Given the description of an element on the screen output the (x, y) to click on. 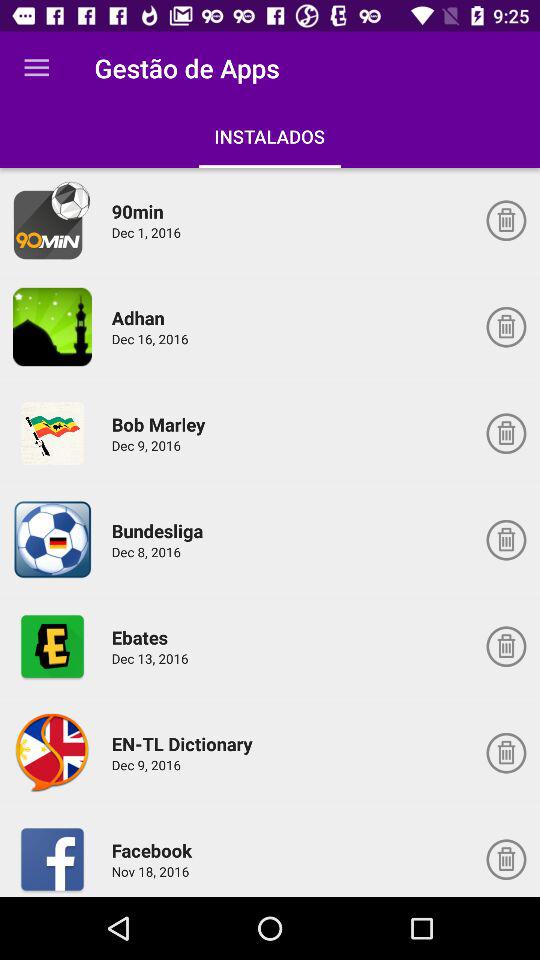
jump until the 90min item (140, 211)
